Given the description of an element on the screen output the (x, y) to click on. 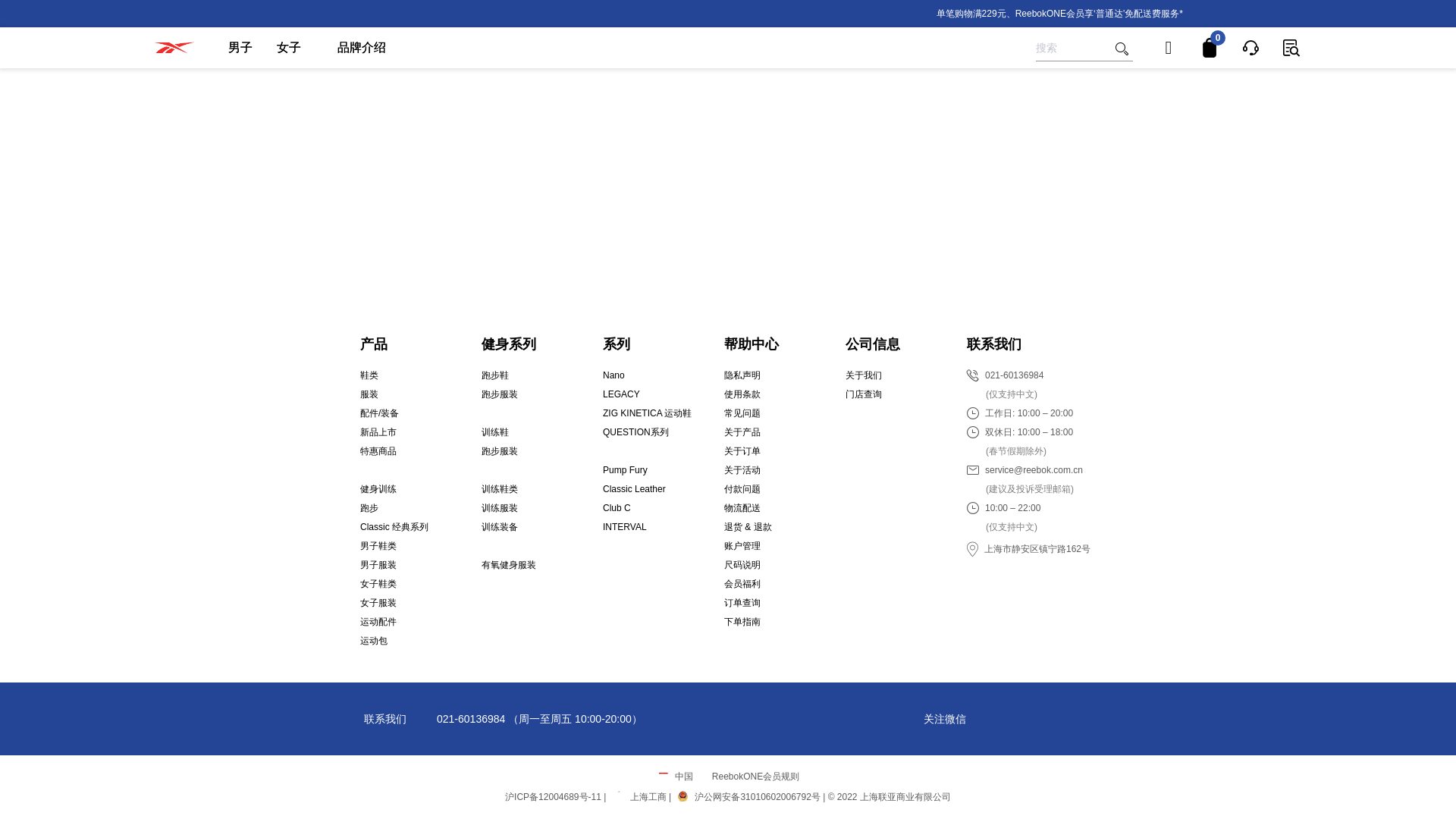
Nano (613, 375)
LEGACY (621, 394)
